Given the description of an element on the screen output the (x, y) to click on. 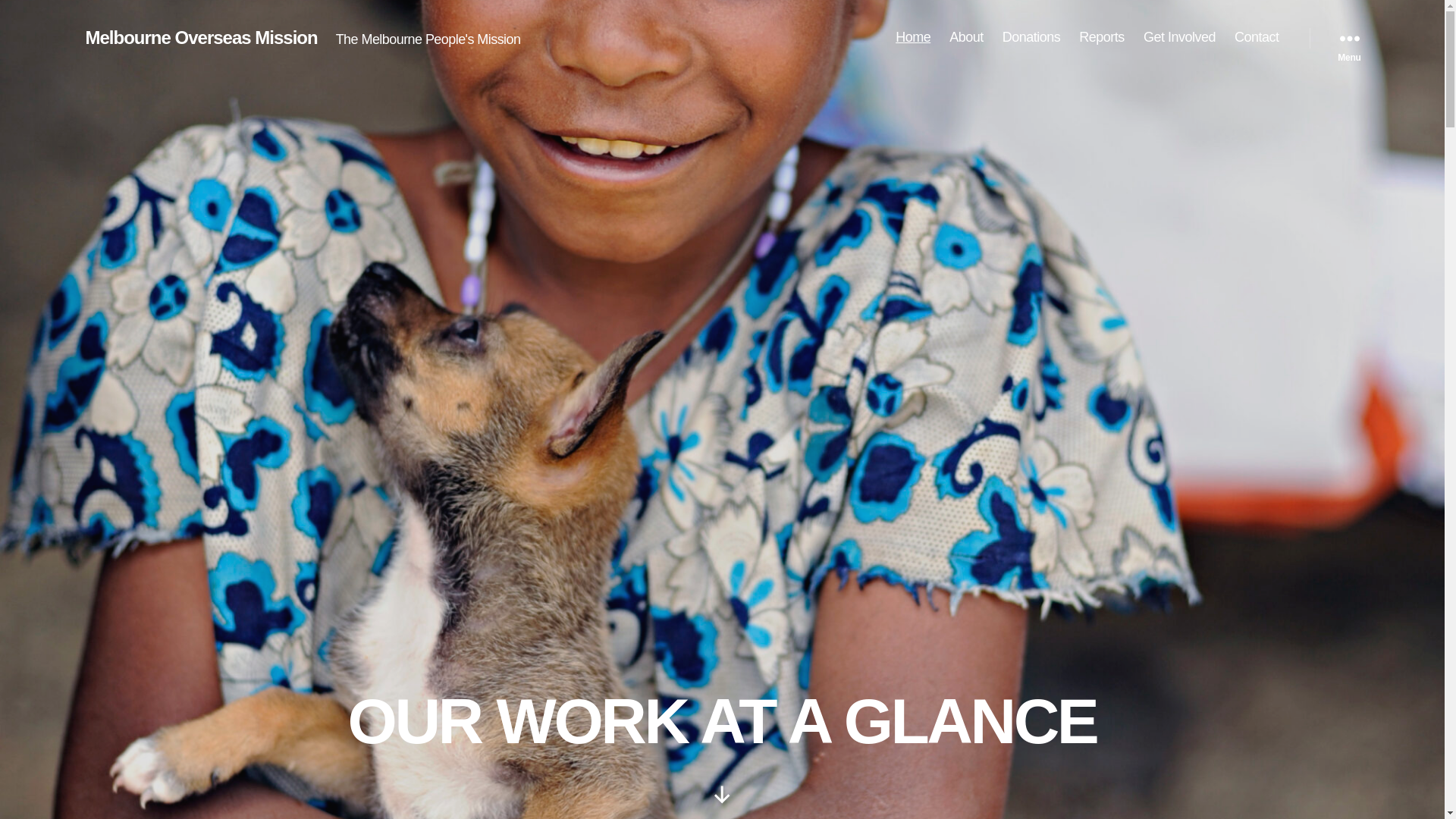
About Element type: text (966, 37)
Reports Element type: text (1101, 37)
Scroll Down Element type: text (722, 794)
Melbourne Overseas Mission Element type: text (200, 37)
Contact Element type: text (1256, 37)
Get Involved Element type: text (1179, 37)
Menu Element type: text (1348, 37)
Donations Element type: text (1031, 37)
Home Element type: text (912, 37)
